Given the description of an element on the screen output the (x, y) to click on. 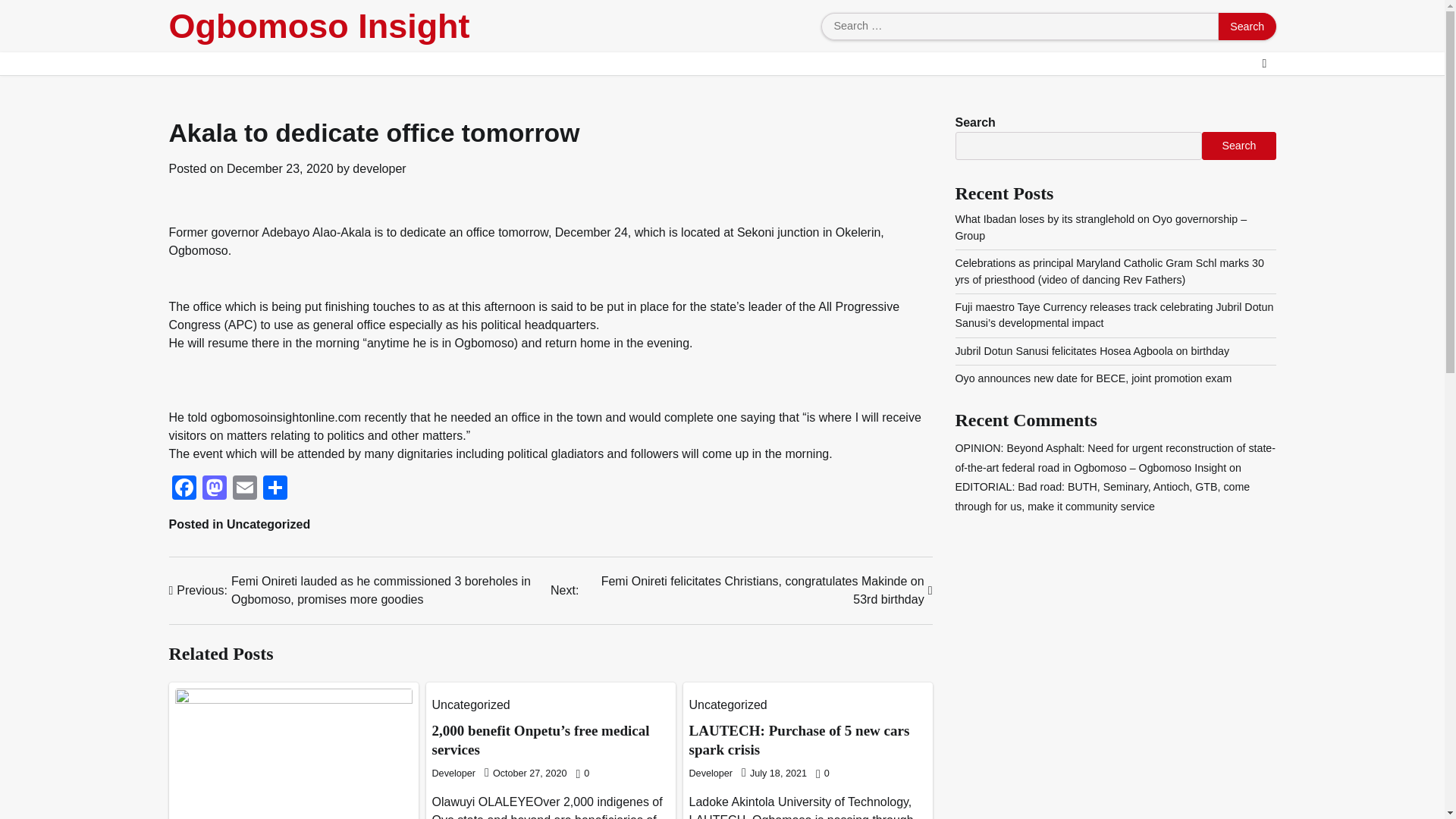
December 23, 2020 (280, 168)
LAUTECH: Purchase of 5 new cars spark crisis (798, 739)
Ogbomoso Insight (318, 25)
Search (1238, 144)
Facebook (183, 489)
Developer (710, 773)
Search (1247, 26)
View Random Post (1263, 63)
Jubril Dotun Sanusi felicitates Hosea Agboola on birthday (1092, 350)
Mastodon (213, 489)
